Given the description of an element on the screen output the (x, y) to click on. 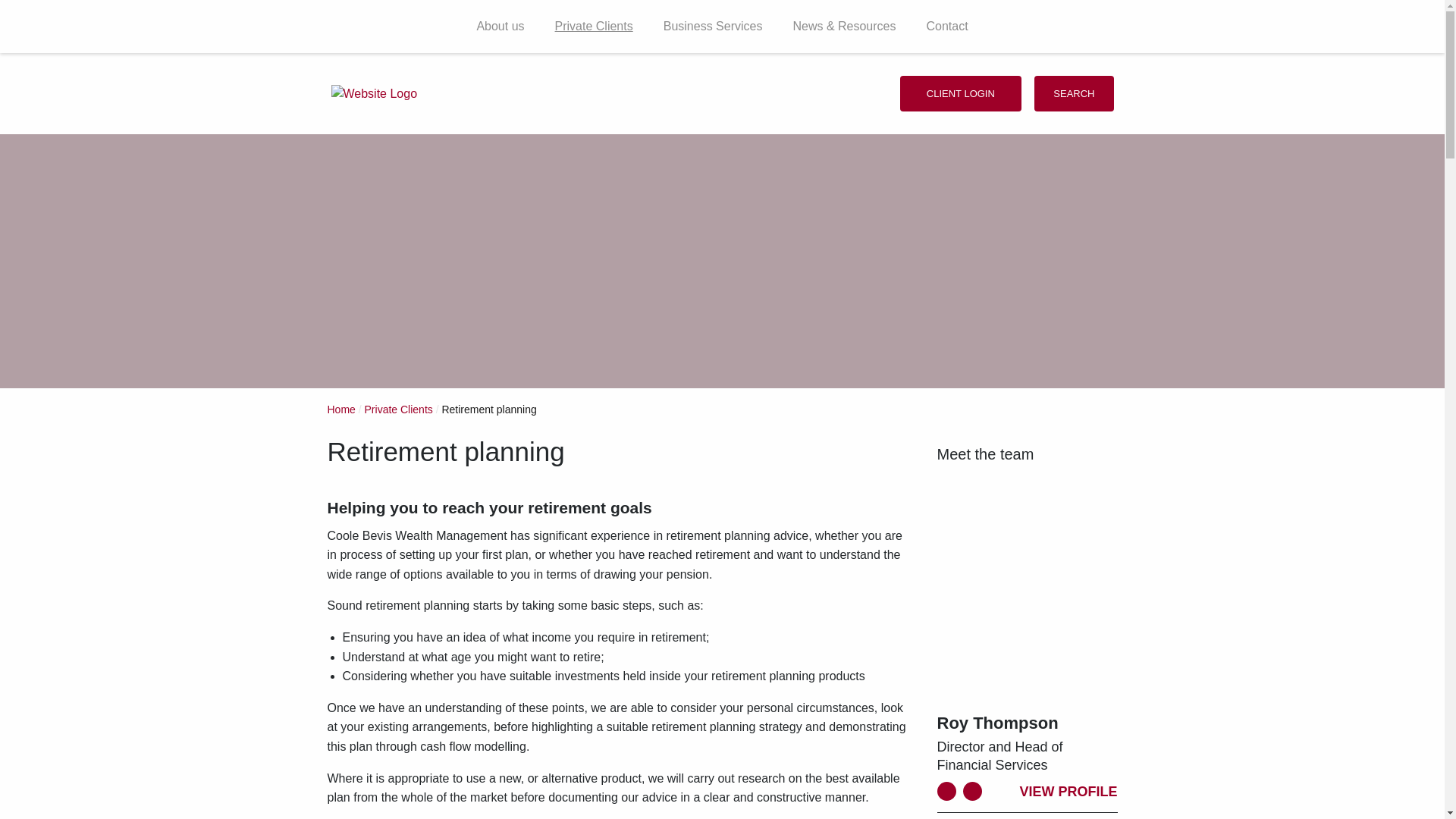
Business Services (712, 26)
About us (500, 26)
Contact (947, 26)
Private Clients (593, 26)
